Given the description of an element on the screen output the (x, y) to click on. 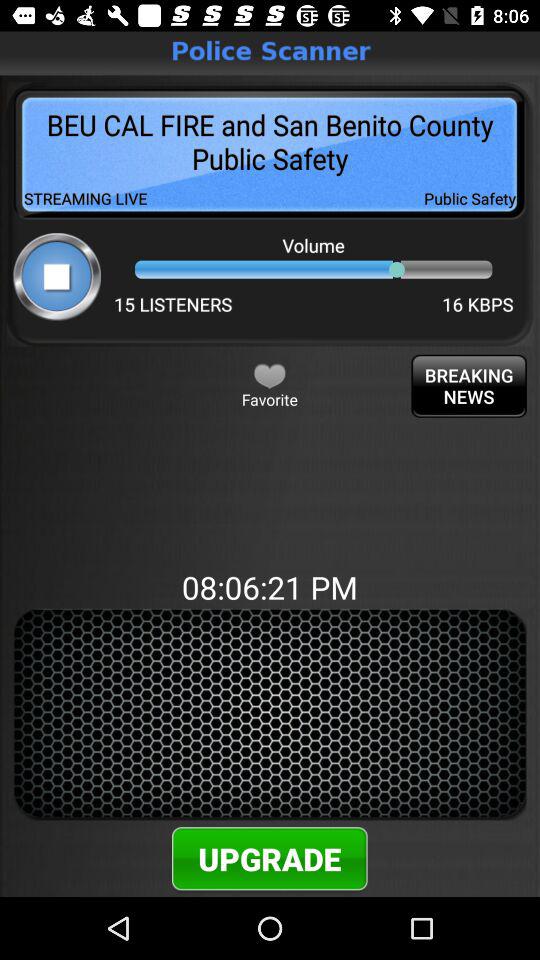
jump to breaking
news (468, 385)
